Given the description of an element on the screen output the (x, y) to click on. 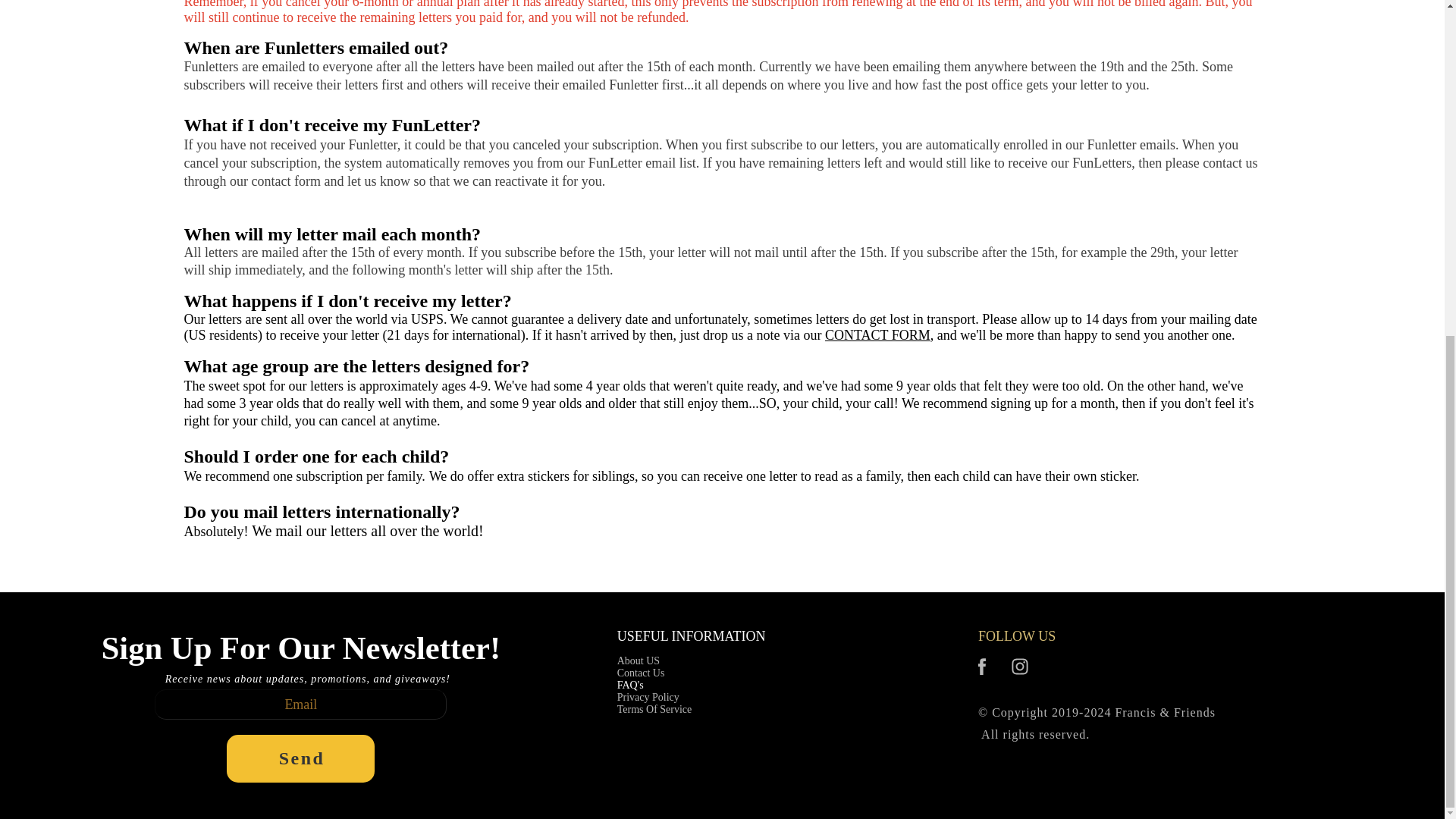
Contact Us (655, 673)
CONTACT FORM (877, 335)
Terms Of Service (655, 709)
Privacy Policy (655, 697)
About US (655, 661)
Send (300, 758)
FAQ'S (655, 685)
